Given the description of an element on the screen output the (x, y) to click on. 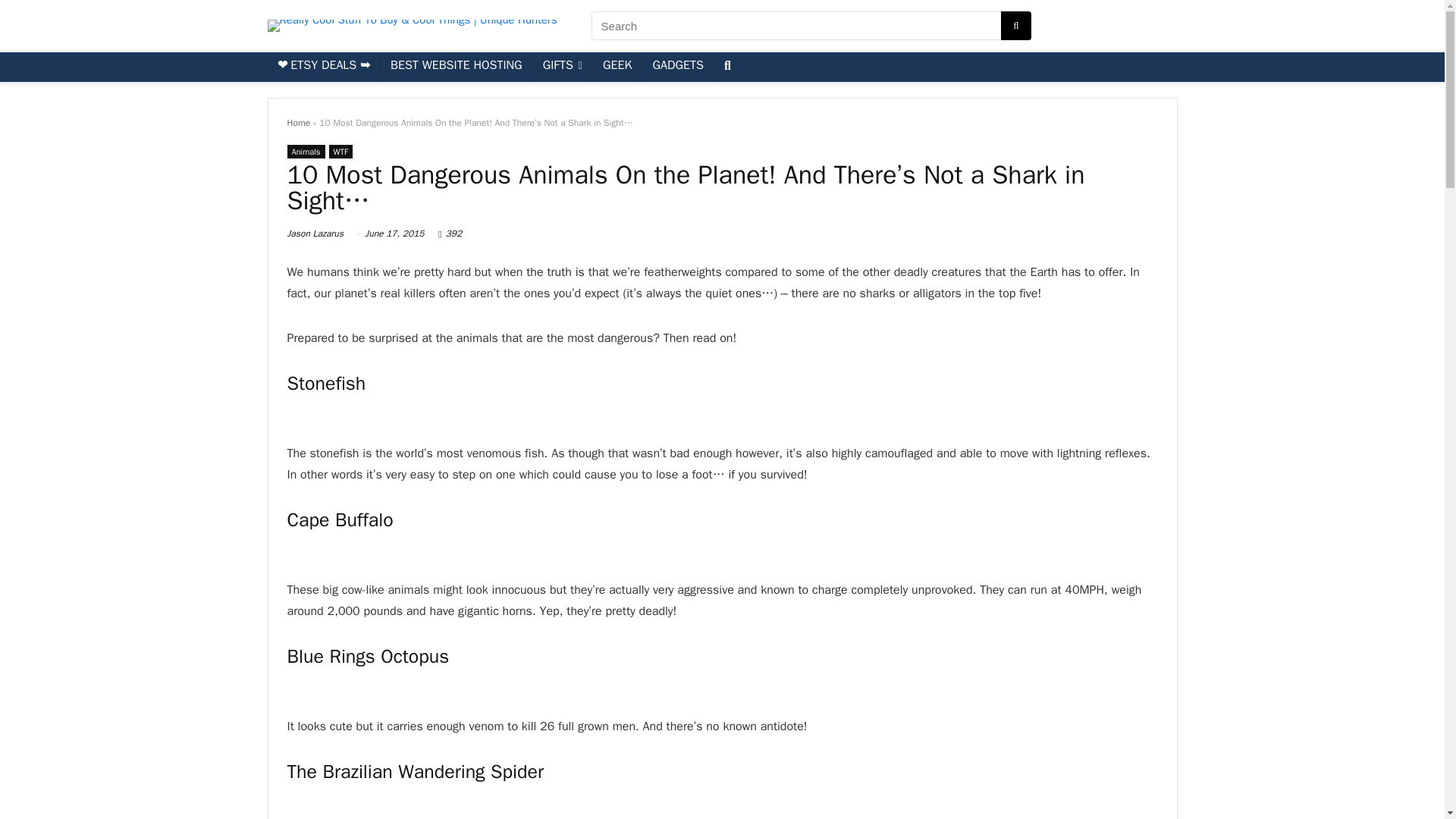
BEST WEBSITE HOSTING (456, 66)
View all posts in Animals (305, 151)
GADGETS (677, 66)
GIFTS (562, 66)
Jason Lazarus (314, 233)
Animals (305, 151)
GEEK (617, 66)
WTF (341, 151)
Home (298, 122)
View all posts in WTF (341, 151)
